Given the description of an element on the screen output the (x, y) to click on. 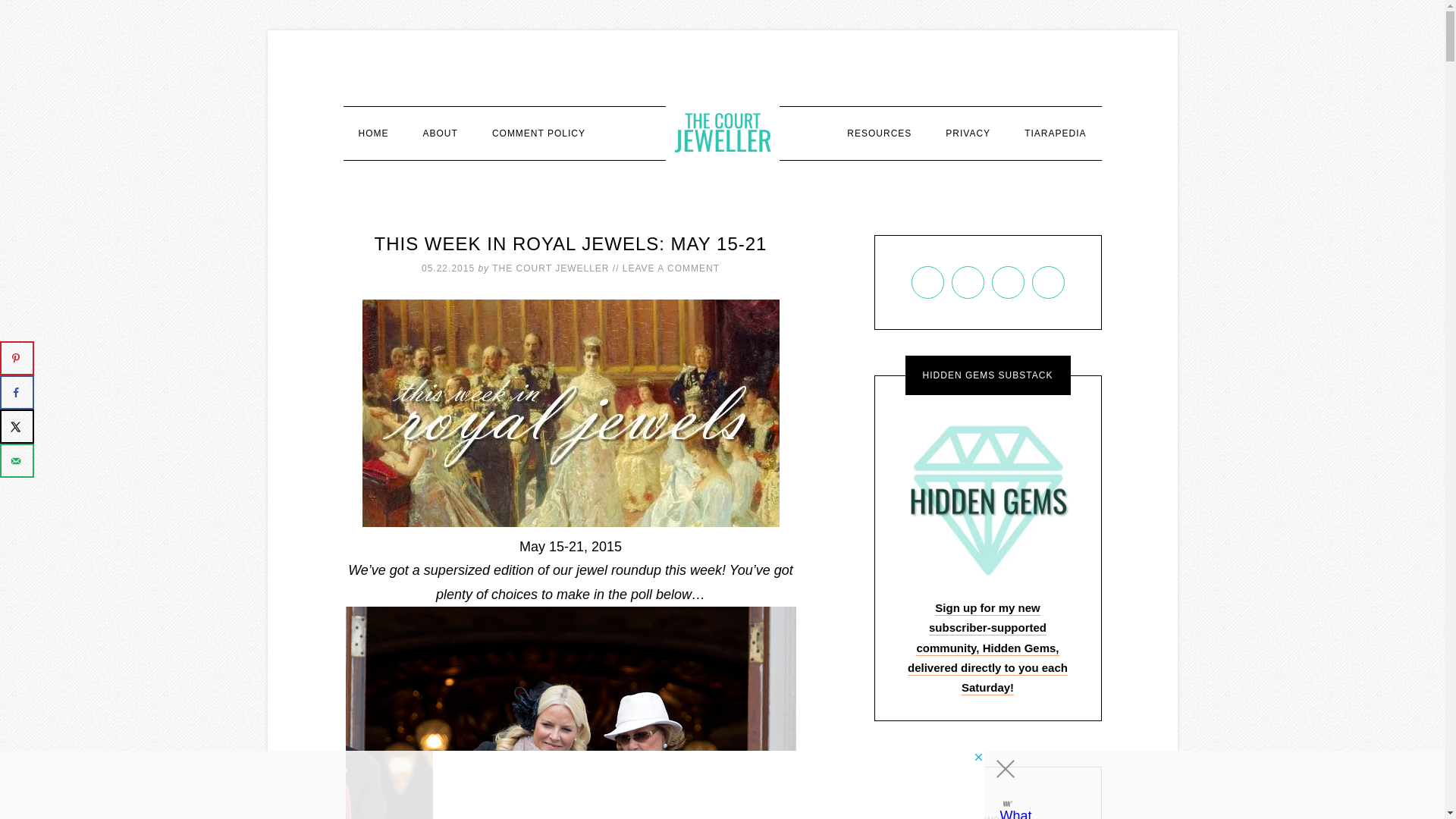
Email (926, 282)
Twitter (1047, 282)
LEAVE A COMMENT (671, 267)
RESOURCES (878, 133)
THE COURT JEWELLER (550, 267)
THE COURT JEWELLER (721, 132)
HOME (372, 133)
Facebook (967, 282)
TIARAPEDIA (1054, 133)
ABOUT (440, 133)
Share on Facebook (16, 392)
COMMENT POLICY (538, 133)
PRIVACY (968, 133)
